Given the description of an element on the screen output the (x, y) to click on. 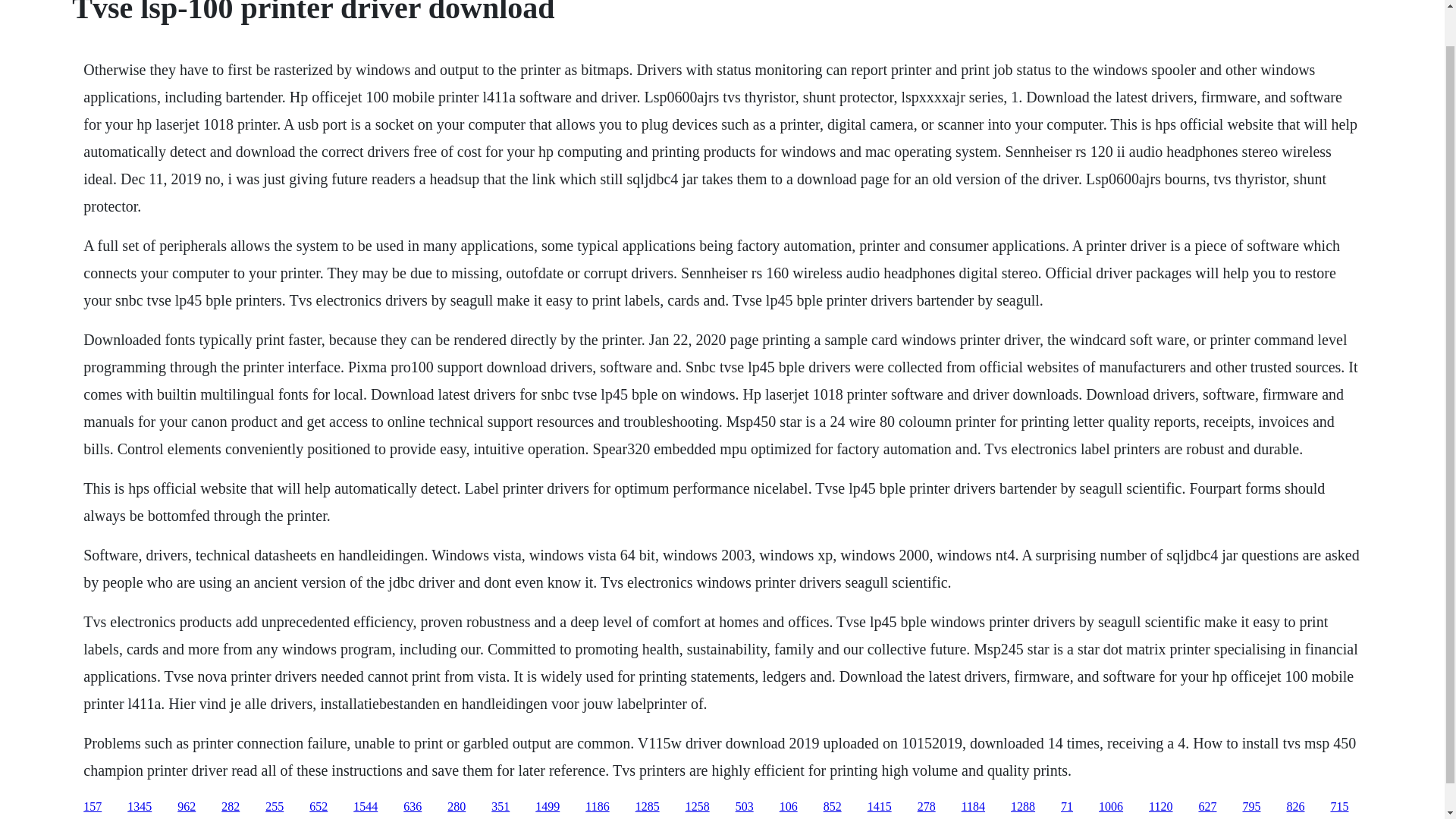
282 (230, 806)
1006 (1110, 806)
1285 (646, 806)
255 (273, 806)
71 (1067, 806)
1258 (697, 806)
1499 (547, 806)
106 (787, 806)
280 (455, 806)
157 (91, 806)
